Given the description of an element on the screen output the (x, y) to click on. 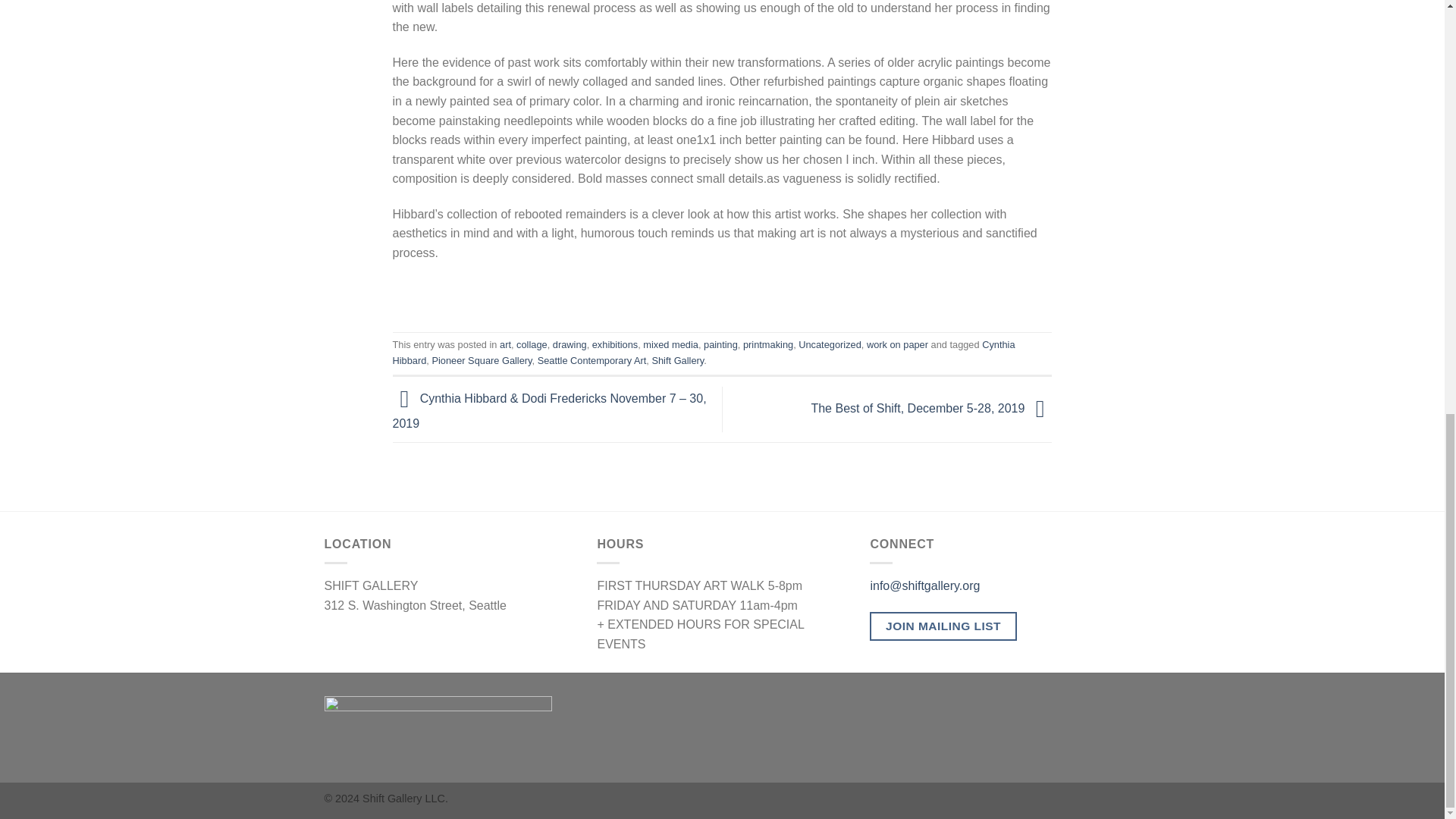
Shift Gallery (676, 360)
exhibitions (614, 344)
collage (531, 344)
work on paper (897, 344)
JOIN MAILING LIST (942, 626)
painting (720, 344)
art (505, 344)
Seattle Contemporary Art (591, 360)
mixed media (670, 344)
drawing (569, 344)
Uncategorized (829, 344)
printmaking (767, 344)
Pioneer Square Gallery (480, 360)
Cynthia Hibbard (703, 352)
The Best of Shift, December 5-28, 2019 (930, 408)
